Given the description of an element on the screen output the (x, y) to click on. 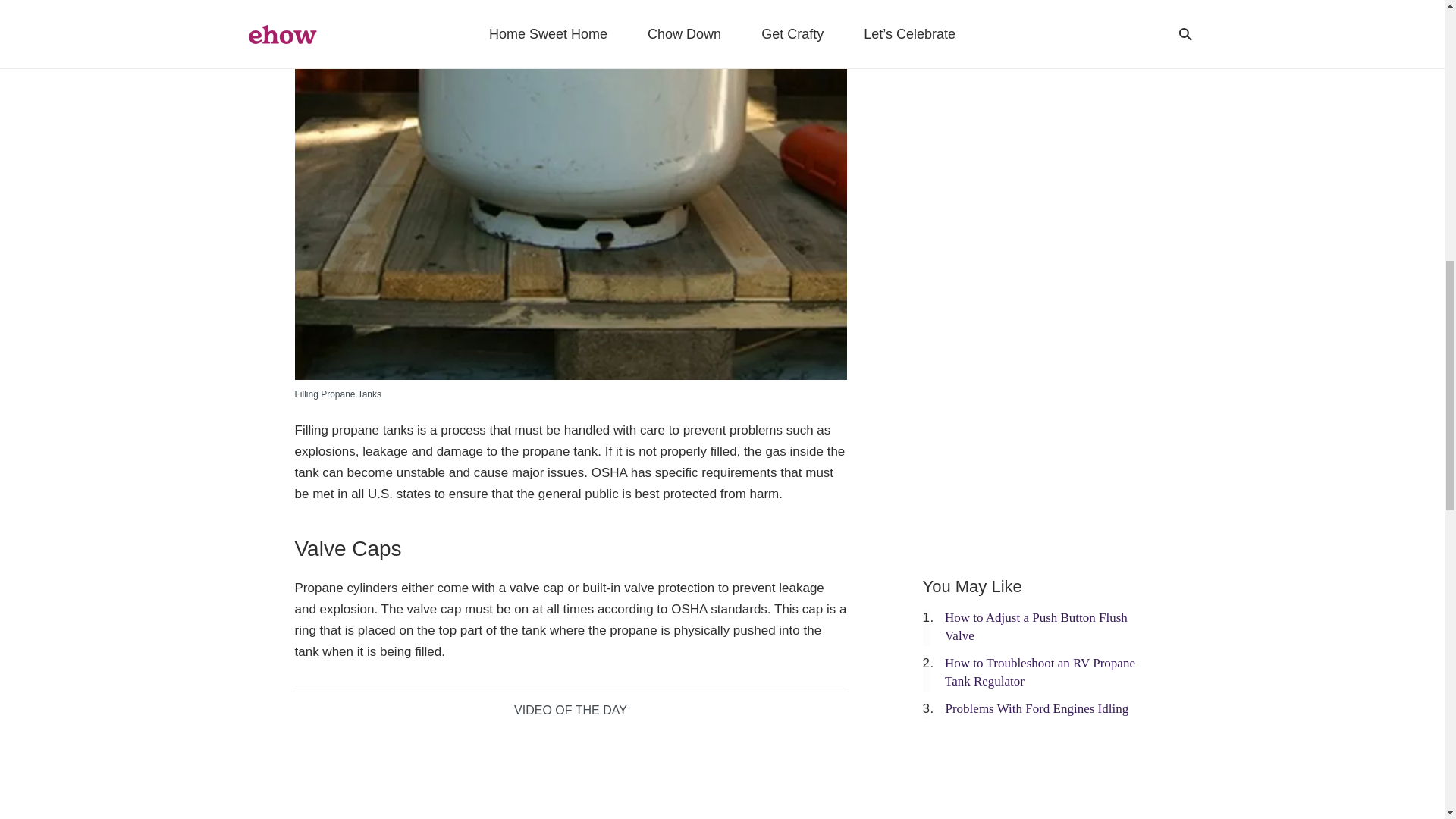
How to Adjust a Push Button Flush Valve (1035, 626)
How to Troubleshoot an RV Propane Tank Regulator (1039, 672)
Problems With Ford Engines Idling (1036, 708)
